Given the description of an element on the screen output the (x, y) to click on. 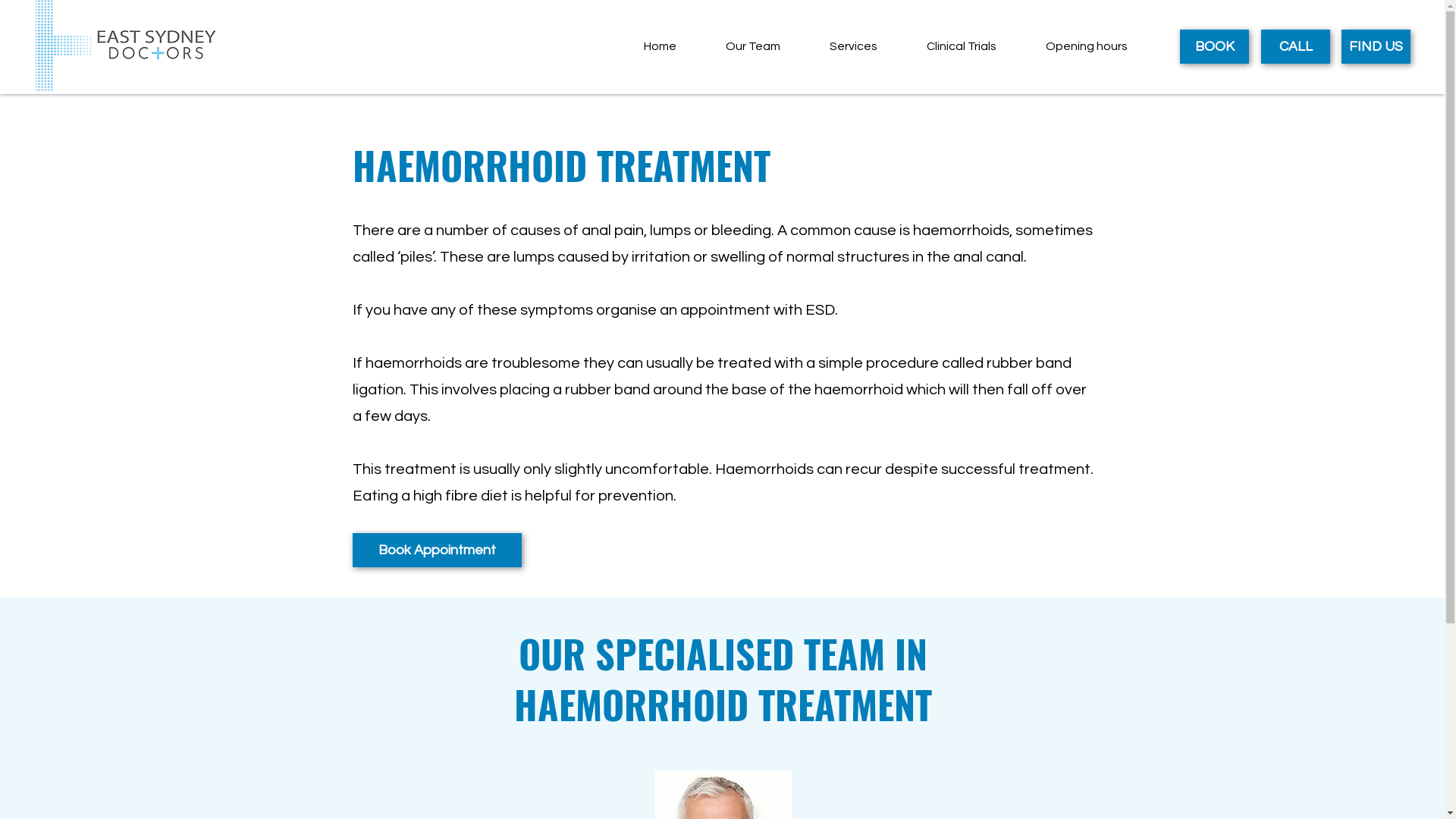
BOOK Element type: text (1213, 46)
Our Team Element type: text (752, 46)
FIND US Element type: text (1375, 46)
CALL Element type: text (1295, 46)
Book Appointment Element type: text (435, 550)
Opening hours Element type: text (1085, 46)
Services Element type: text (852, 46)
Clinical Trials Element type: text (960, 46)
Home Element type: text (659, 46)
